Given the description of an element on the screen output the (x, y) to click on. 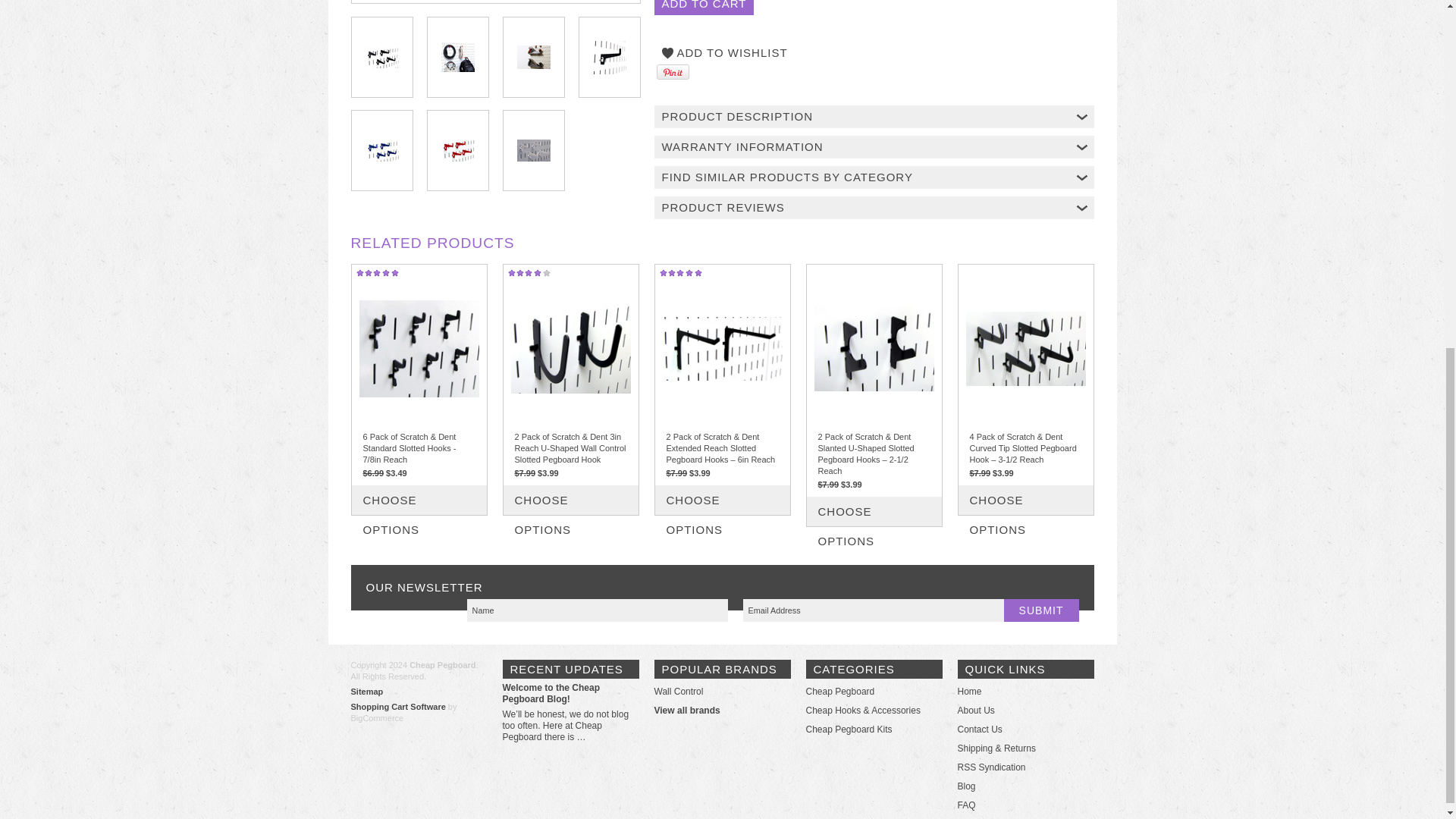
Image 7 (533, 150)
Image 6 (457, 150)
77 (367, 491)
Image 5 (381, 150)
Image 1 (381, 56)
Add to Wishlist (723, 52)
Add to Cart (703, 7)
submit (1041, 609)
Image 4 (609, 56)
105 (821, 502)
113 (973, 491)
Name (597, 609)
97 (670, 491)
Image 3 (533, 56)
Add to Cart (703, 7)
